Given the description of an element on the screen output the (x, y) to click on. 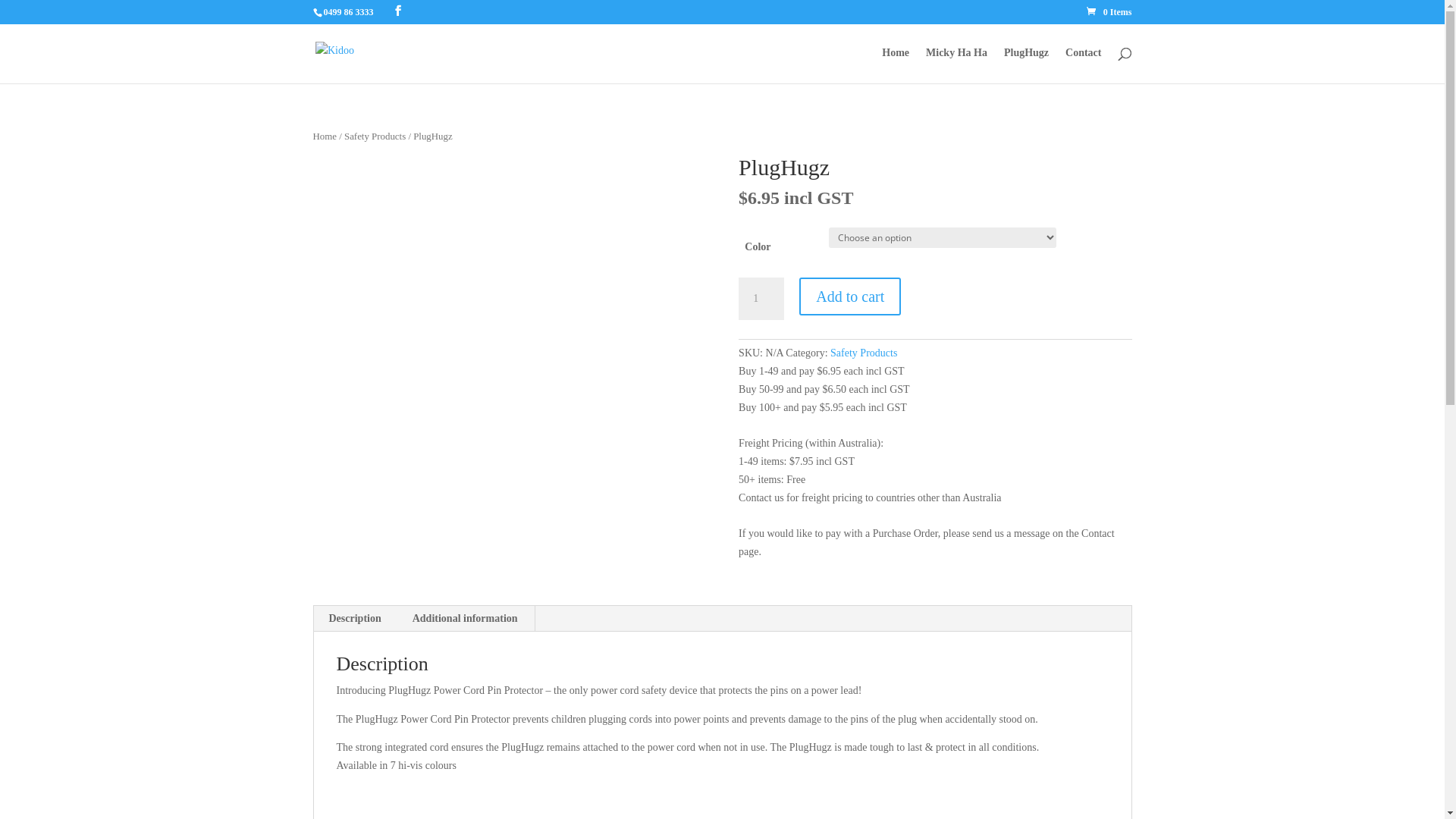
PlugHugz Element type: text (1026, 65)
Safety Products Element type: text (863, 352)
Safety Products Element type: text (374, 136)
Home Element type: text (895, 65)
Micky Ha Ha Element type: text (956, 65)
Contact Element type: text (1083, 65)
Description Element type: text (355, 618)
Additional information Element type: text (464, 618)
0 Items Element type: text (1109, 11)
Home Element type: text (323, 136)
Add to cart Element type: text (849, 296)
